Given the description of an element on the screen output the (x, y) to click on. 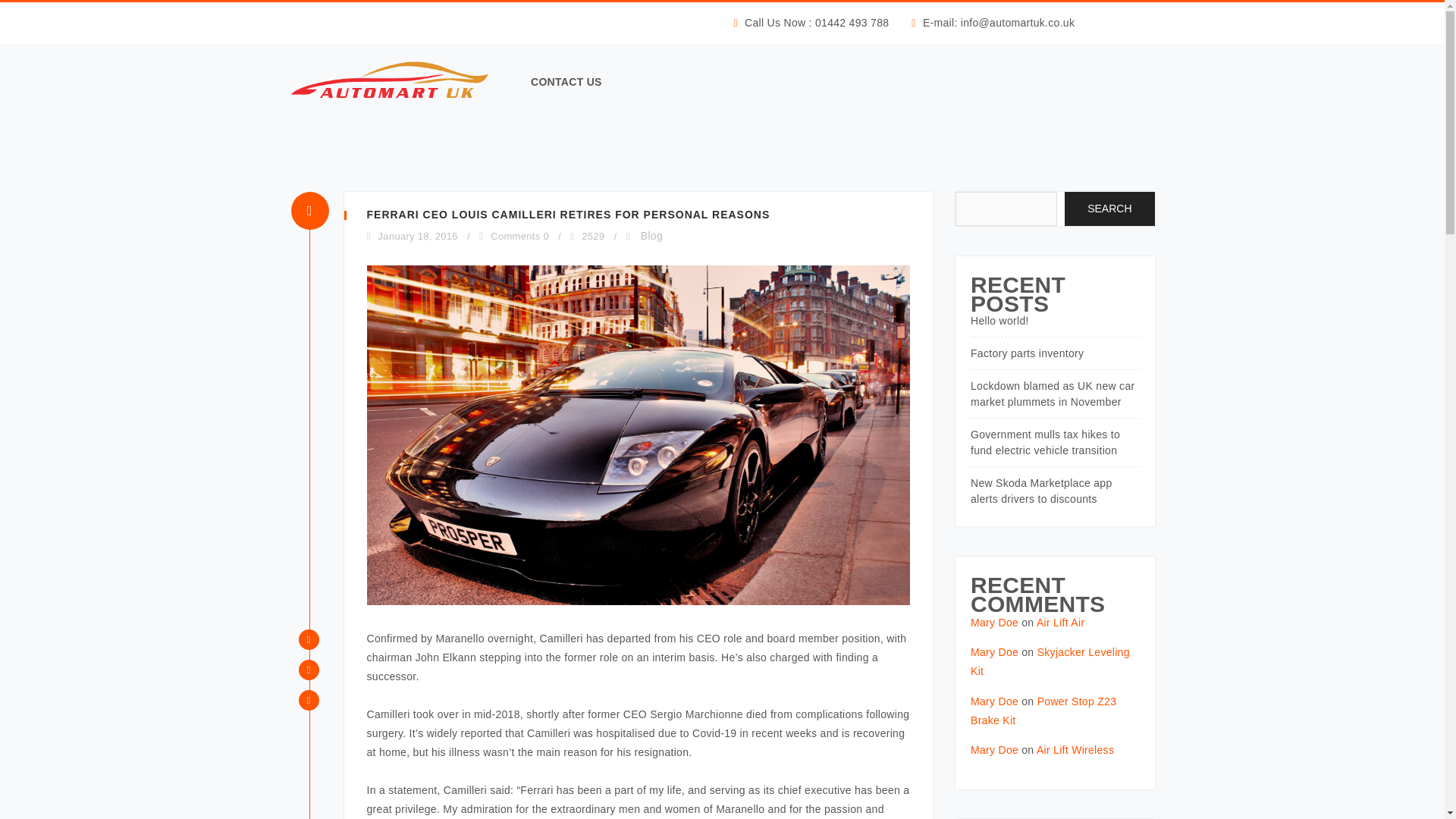
Mary Doe (994, 749)
New Skoda Marketplace app alerts drivers to discounts (1041, 490)
Lockdown blamed as UK new car market plummets in November (1052, 393)
FERRARI CEO LOUIS CAMILLERI RETIRES FOR PERSONAL REASONS (568, 214)
Hello world! (1000, 320)
Mary Doe (994, 622)
Factory parts inventory (1027, 353)
Mary Doe (994, 701)
Air Lift Wireless (1074, 749)
SEARCH (1109, 208)
Mary Doe (994, 652)
CONTACT US (557, 81)
Air Lift Air (1060, 622)
Power Stop Z23 Brake Kit (1043, 710)
